Given the description of an element on the screen output the (x, y) to click on. 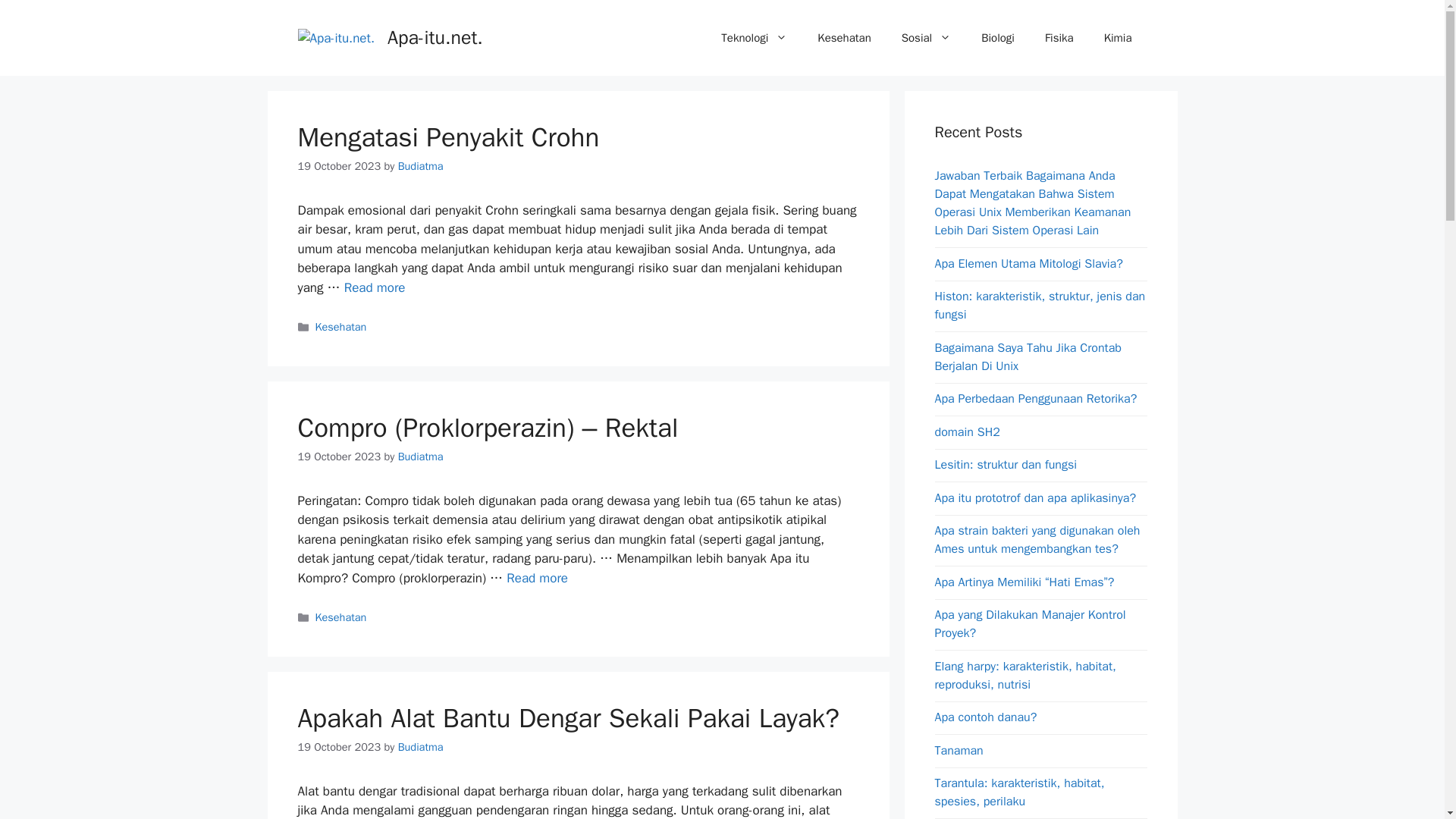
Teknologi (754, 37)
View all posts by Budiatma (420, 746)
Apakah Alat Bantu Dengar Sekali Pakai Layak? (567, 717)
Budiatma (420, 746)
Kesehatan (340, 326)
Kesehatan (340, 617)
Apa-itu.net. (435, 37)
Kesehatan (843, 37)
Kimia (1118, 37)
Fisika (1059, 37)
View all posts by Budiatma (420, 165)
Mengatasi Penyakit Crohn (447, 136)
Mengatasi Penyakit Crohn (374, 287)
Sosial (926, 37)
Budiatma (420, 456)
